Given the description of an element on the screen output the (x, y) to click on. 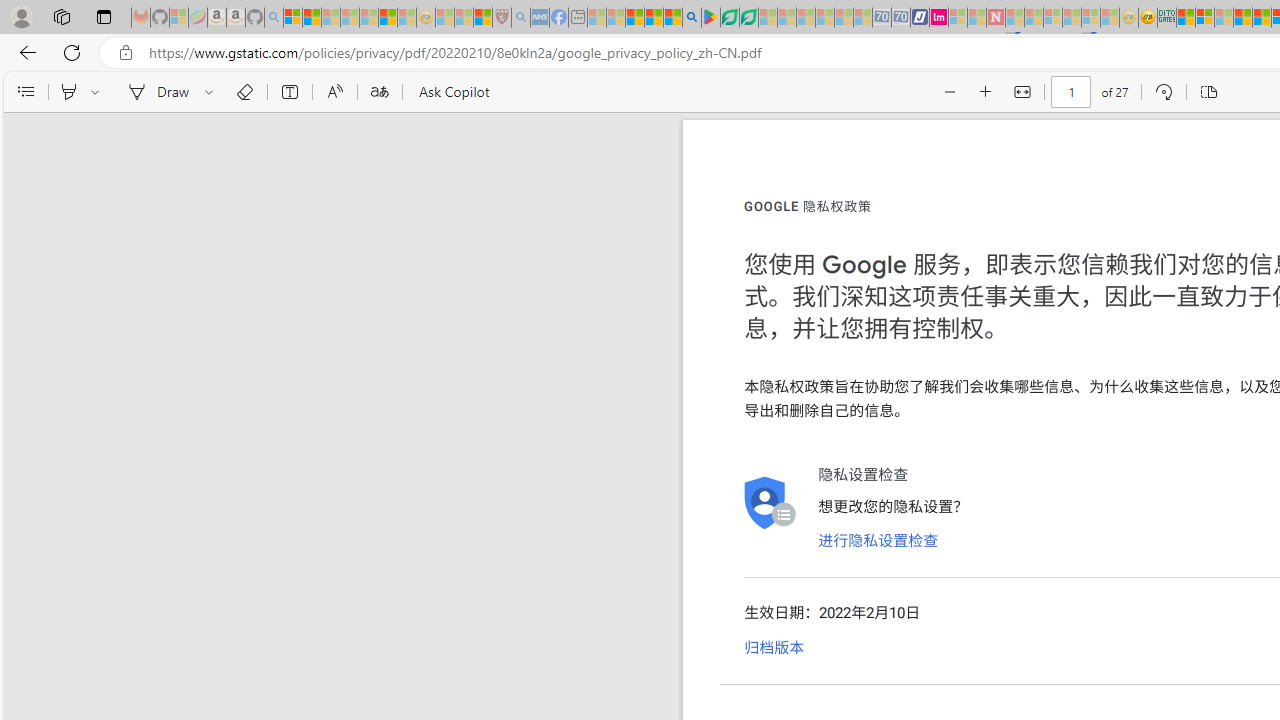
Ask Copilot (452, 92)
